Given the description of an element on the screen output the (x, y) to click on. 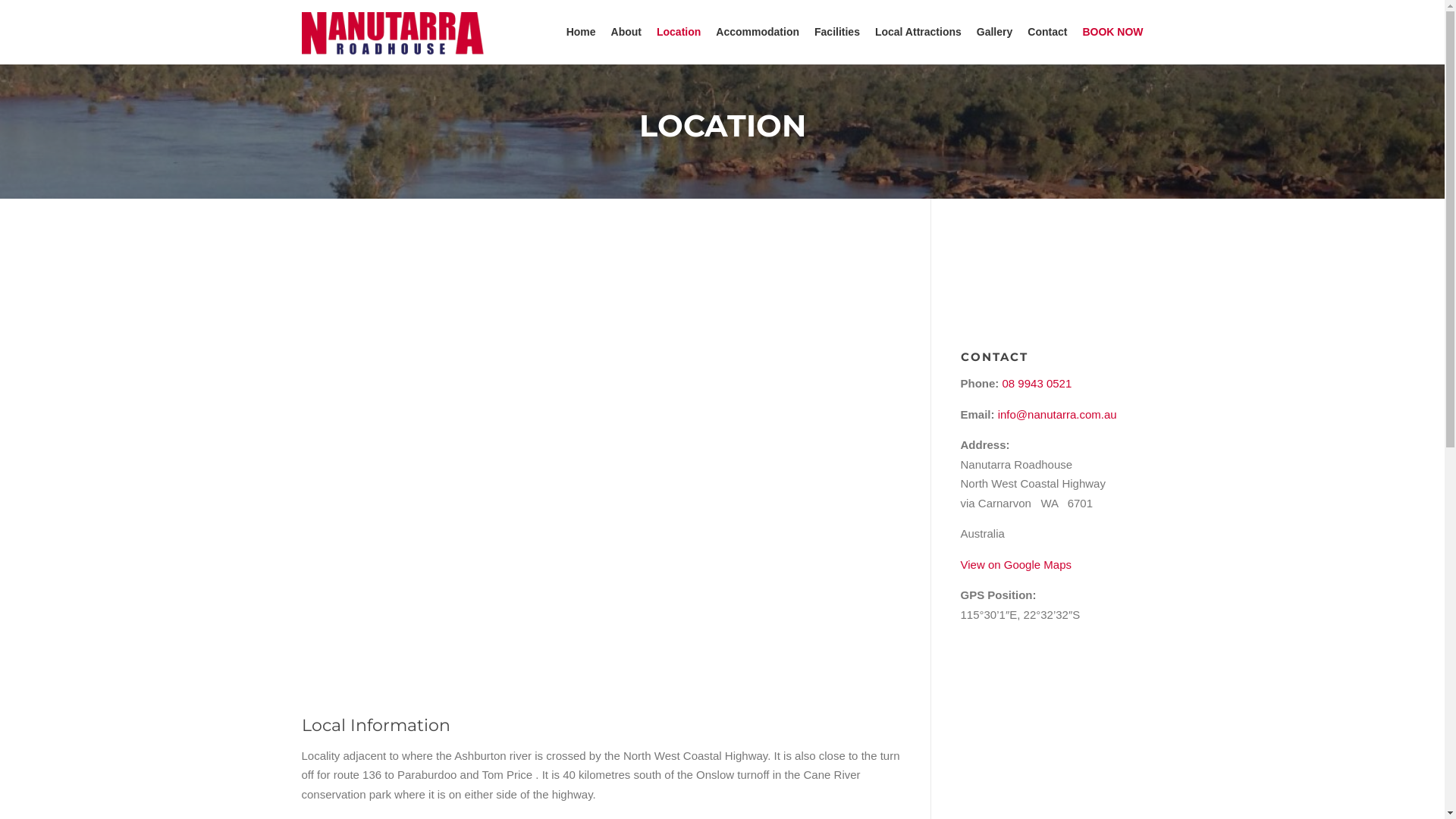
info@nanutarra.com.au Element type: text (1057, 413)
08 9943 0521 Element type: text (1037, 382)
Accommodation Element type: text (757, 32)
About Element type: text (626, 32)
Home Element type: text (580, 32)
View on Google Maps Element type: text (1015, 564)
Location Element type: text (678, 32)
Contact Element type: text (1046, 32)
Gallery Element type: text (994, 32)
BOOK NOW Element type: text (1108, 32)
Local Attractions Element type: text (918, 32)
Facilities Element type: text (836, 32)
